Given the description of an element on the screen output the (x, y) to click on. 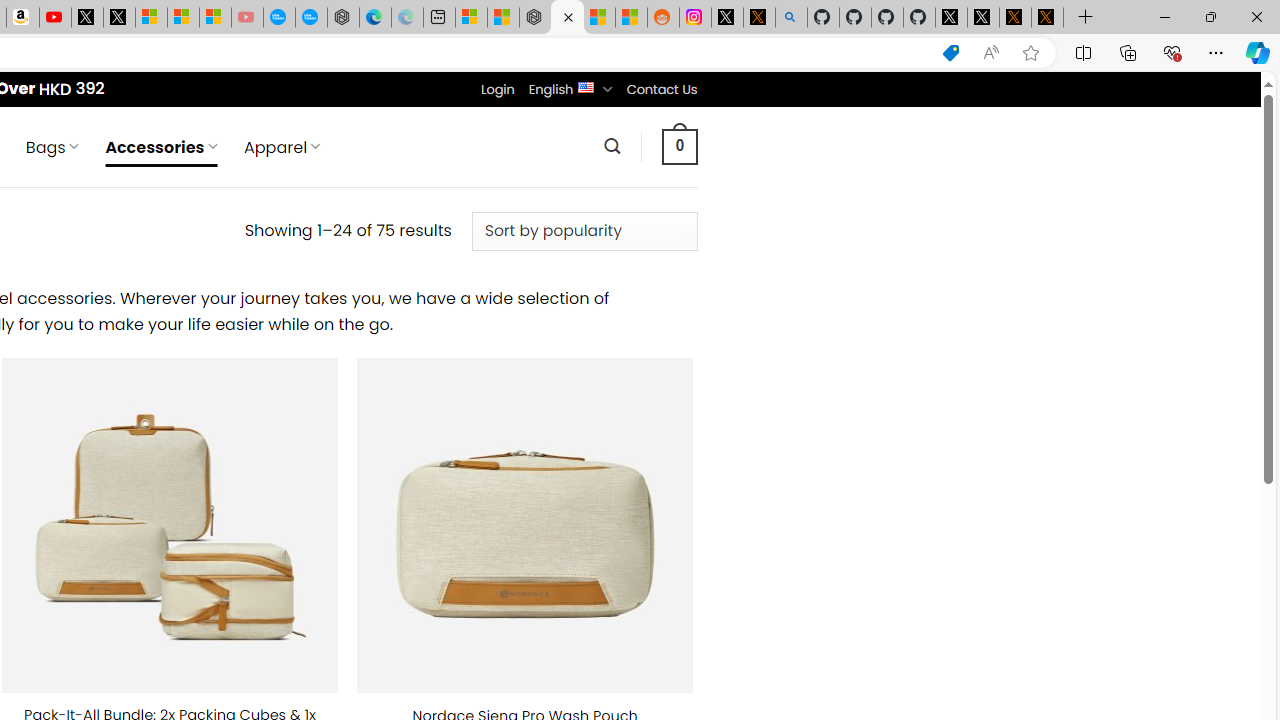
Profile / X (950, 17)
Nordace - Nordace has arrived Hong Kong (343, 17)
Log in to X / X (727, 17)
Opinion: Op-Ed and Commentary - USA TODAY (279, 17)
